Given the description of an element on the screen output the (x, y) to click on. 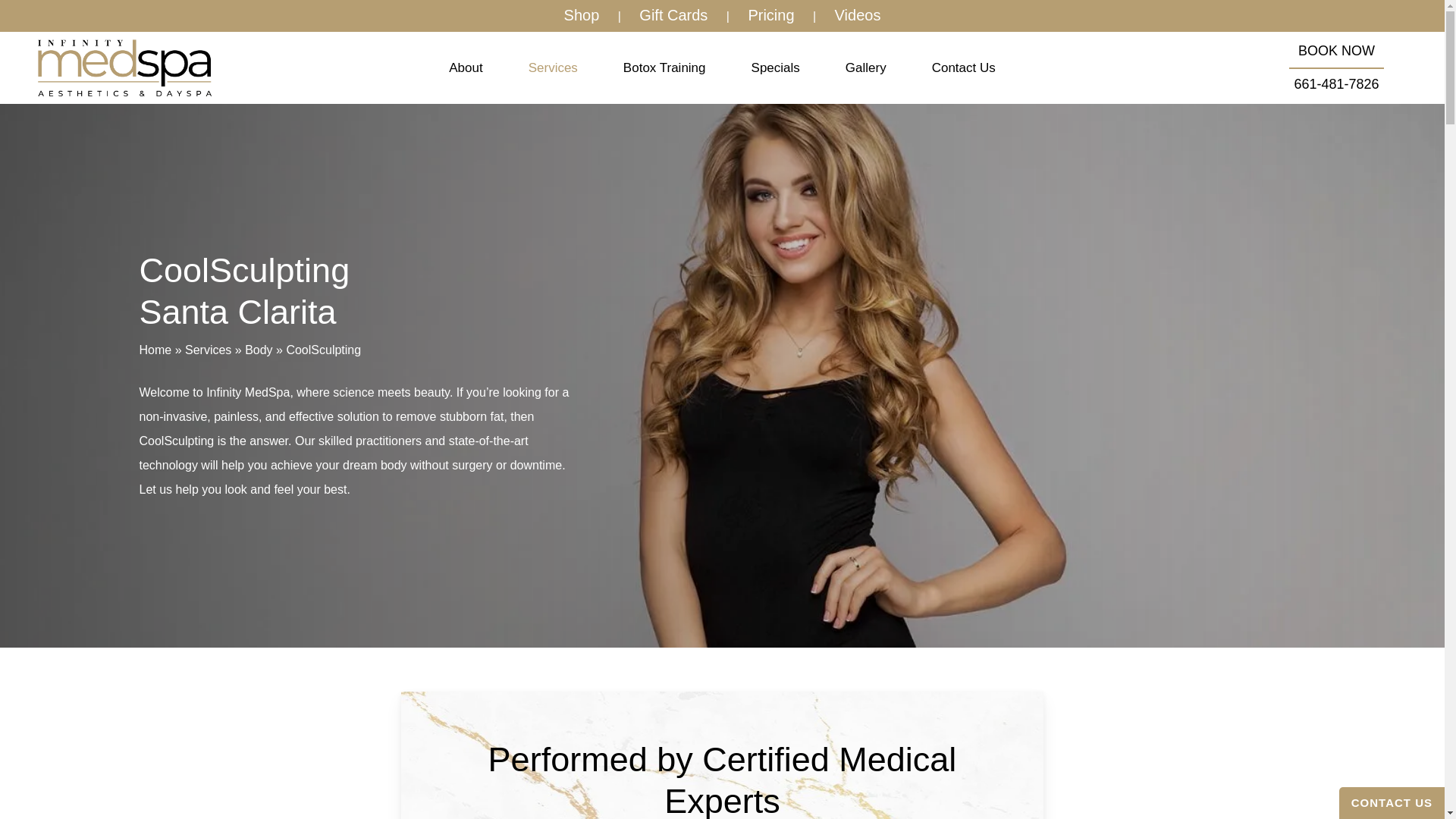
About (465, 68)
Gift Cards (673, 14)
Services (552, 68)
Shop (581, 14)
Pricing (770, 14)
Videos (857, 14)
